Given the description of an element on the screen output the (x, y) to click on. 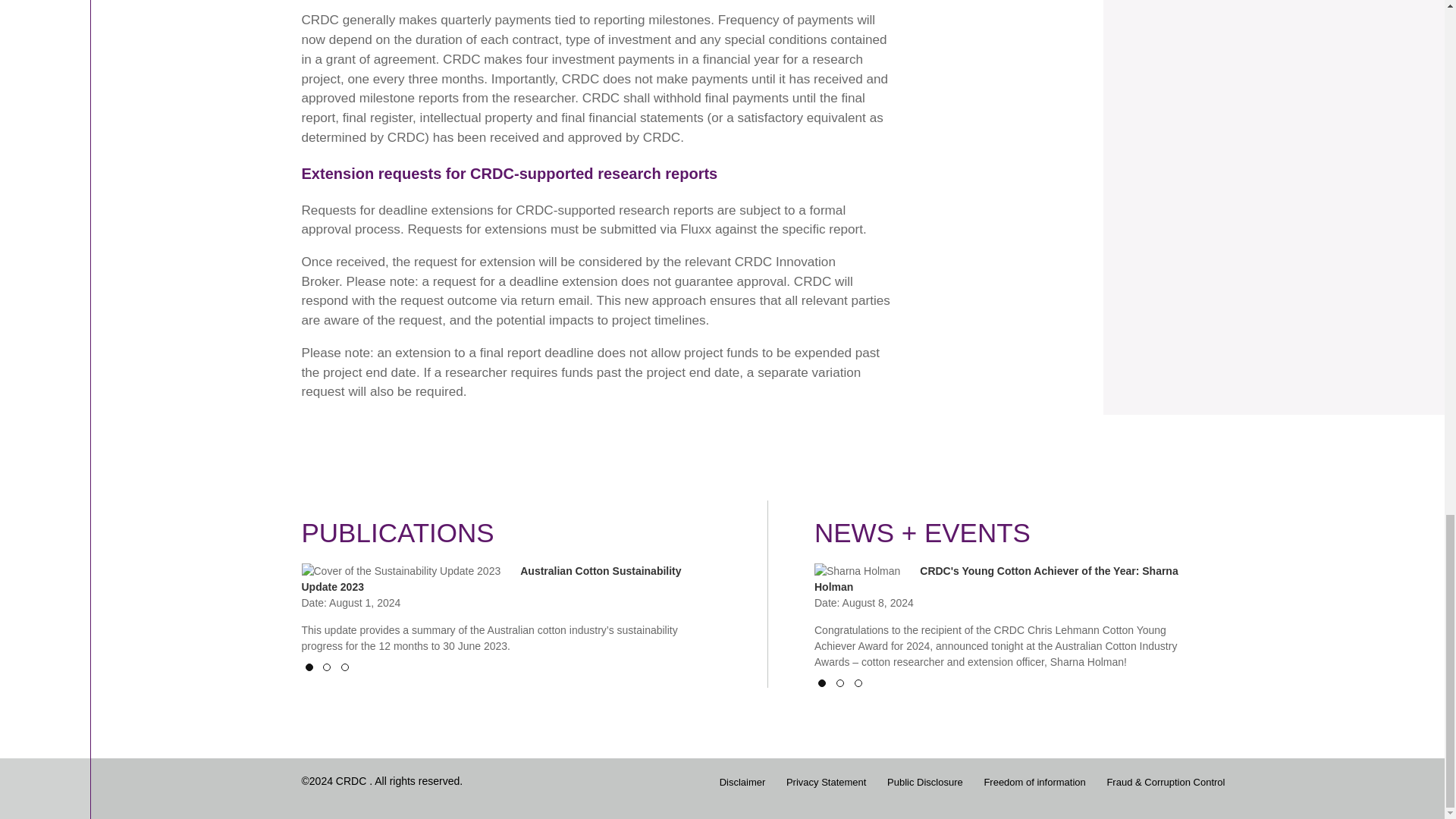
Go to page 2 (308, 666)
PUBLICATIONS (839, 683)
Current page (398, 533)
Current page (821, 683)
view all publications (308, 666)
Go to page 3 (398, 533)
Go to page 3 (344, 666)
Twitter (857, 683)
Go to page 2 (552, 788)
